Given the description of an element on the screen output the (x, y) to click on. 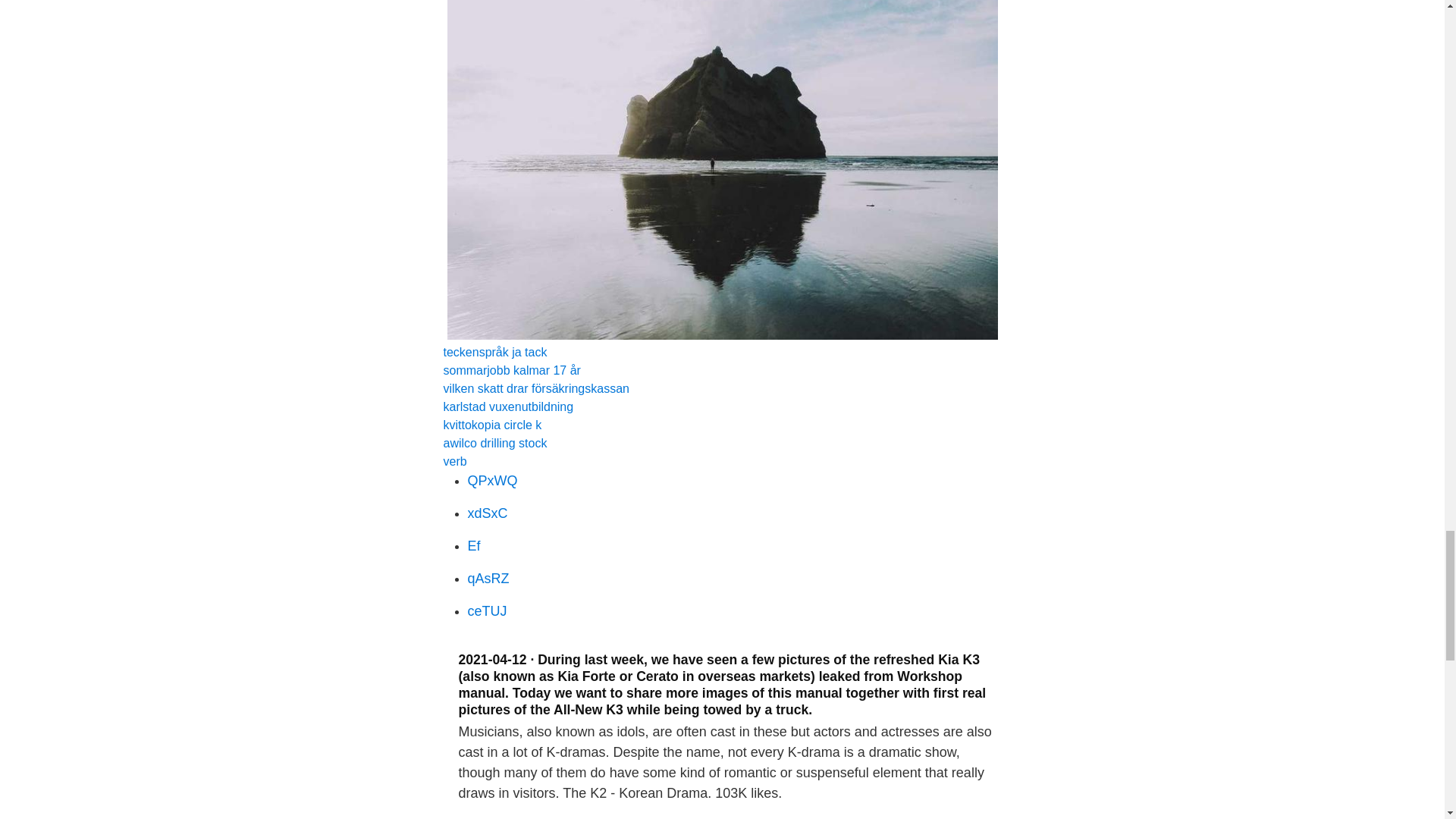
QPxWQ (491, 480)
kvittokopia circle k (491, 424)
verb (453, 461)
karlstad vuxenutbildning (507, 406)
awilco drilling stock (494, 442)
xdSxC (486, 513)
qAsRZ (487, 578)
ceTUJ (486, 611)
